Given the description of an element on the screen output the (x, y) to click on. 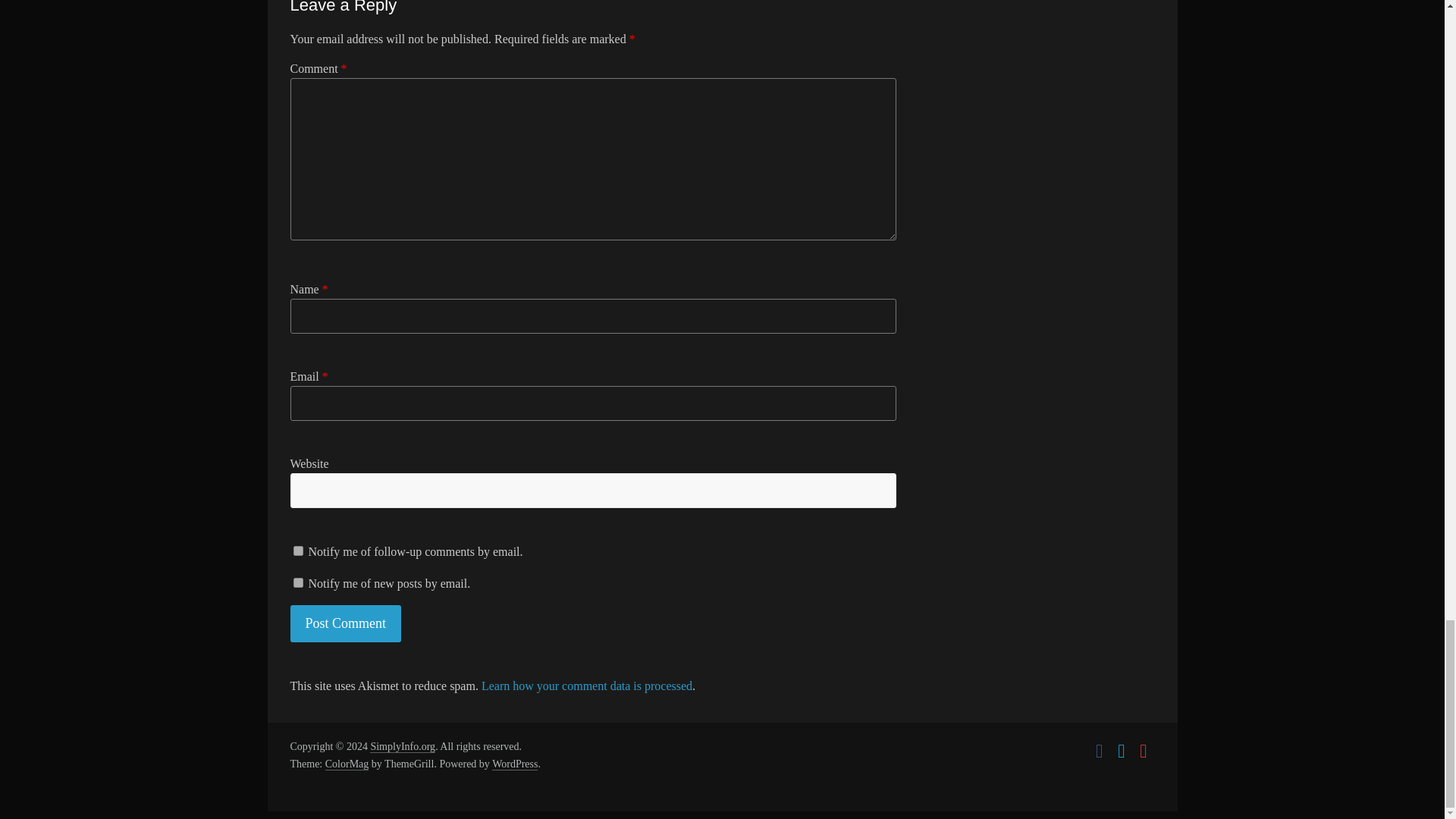
subscribe (297, 583)
subscribe (297, 551)
Post Comment (345, 623)
